Given the description of an element on the screen output the (x, y) to click on. 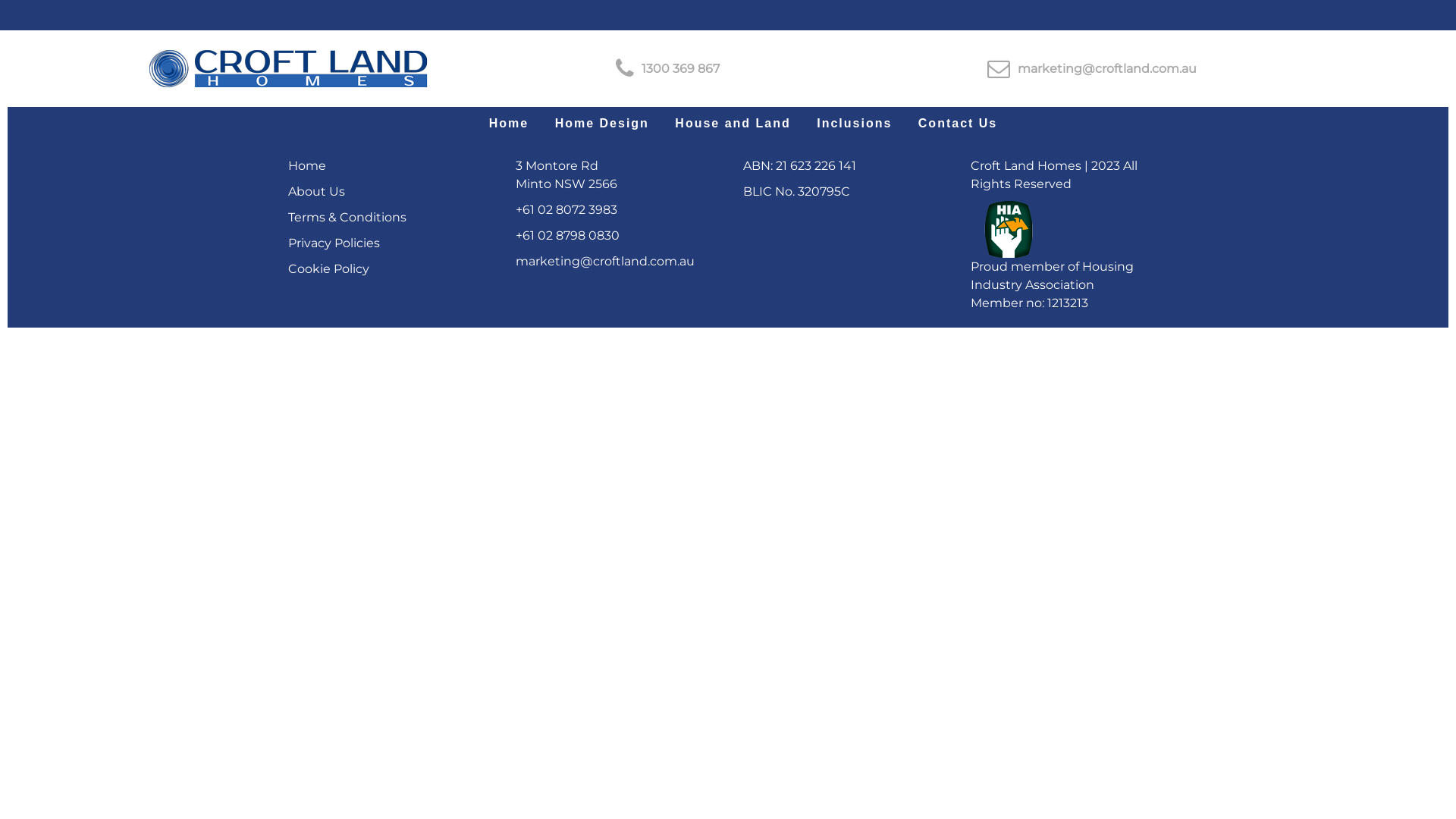
Terms & Conditions Element type: text (347, 217)
Cookie Policy Element type: text (328, 268)
Inclusions Element type: text (853, 125)
Privacy Policies Element type: text (333, 242)
About Us Element type: text (316, 191)
Contact Us Element type: text (957, 125)
Home Design Element type: text (602, 125)
House and Land Element type: text (732, 125)
Home Element type: text (307, 165)
Home Element type: text (508, 125)
